Given the description of an element on the screen output the (x, y) to click on. 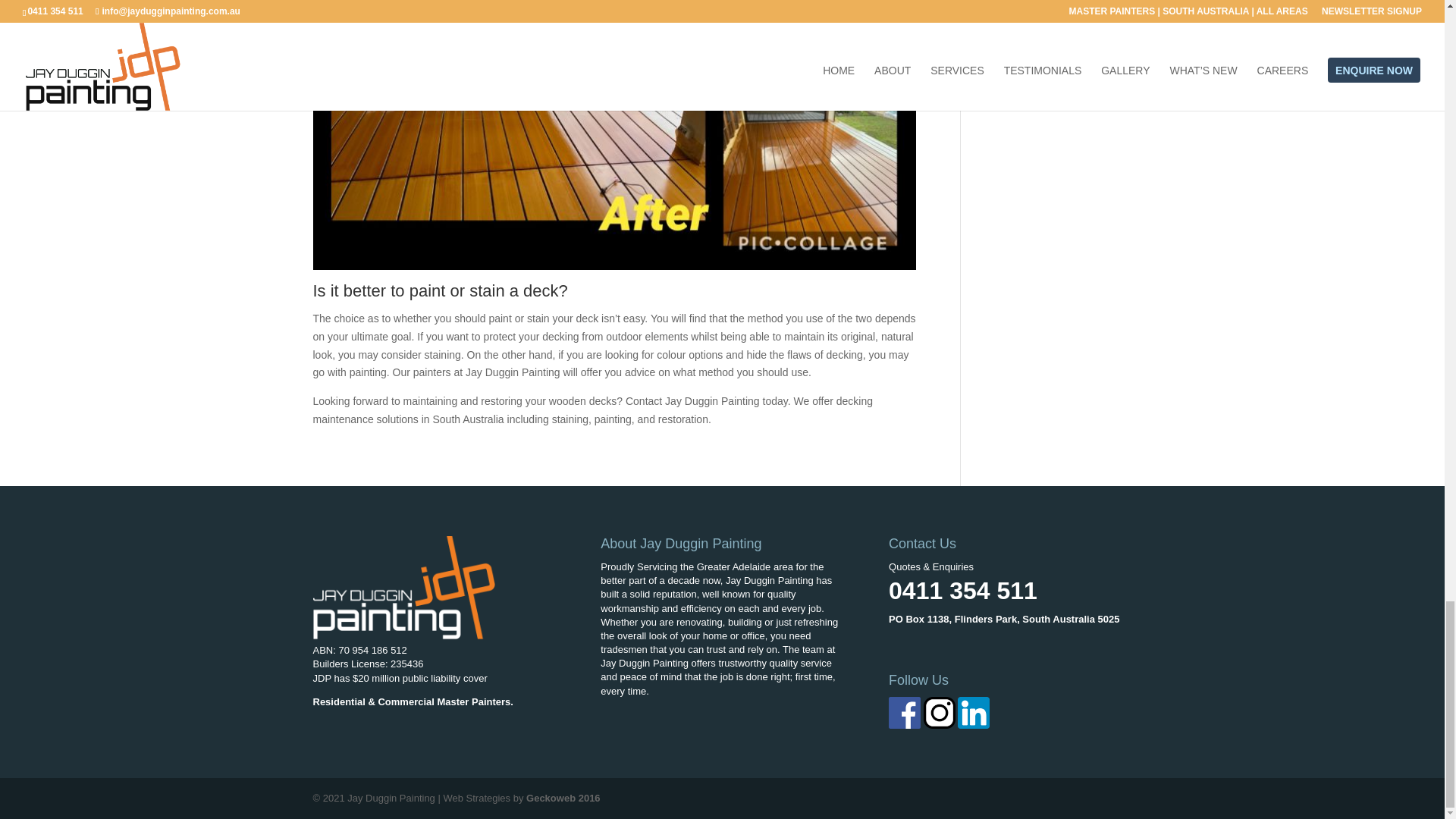
0411 354 511 (962, 590)
Geckoweb 2016 (562, 797)
